Given the description of an element on the screen output the (x, y) to click on. 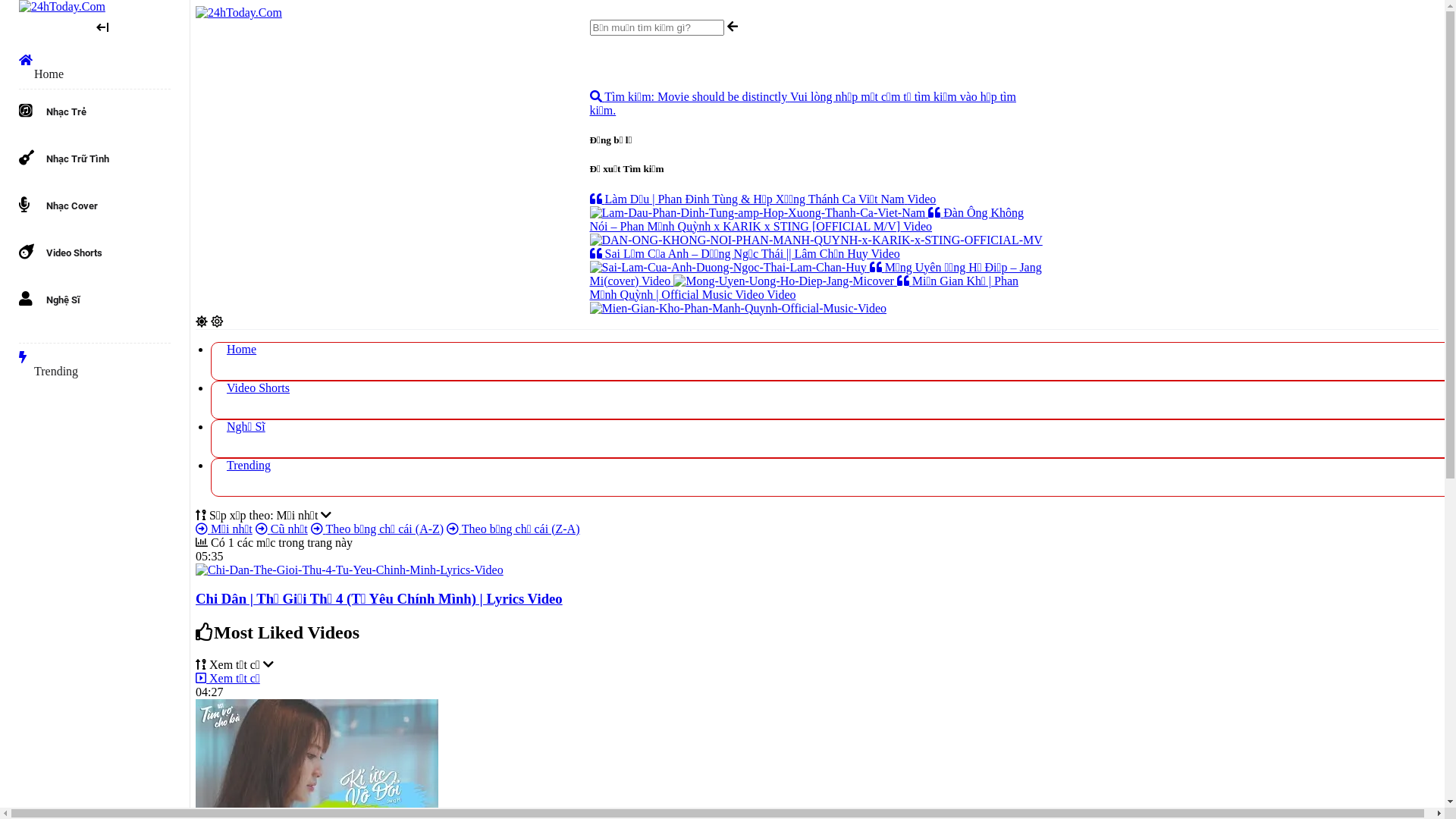
Video Shorts Element type: text (52, 255)
24hToday.Com Element type: hover (61, 6)
Video Shorts Element type: text (257, 387)
Trending Element type: text (248, 464)
Trending Element type: text (94, 360)
Home Element type: text (241, 348)
24hToday.Com Element type: hover (238, 12)
Home Element type: text (94, 63)
